Given the description of an element on the screen output the (x, y) to click on. 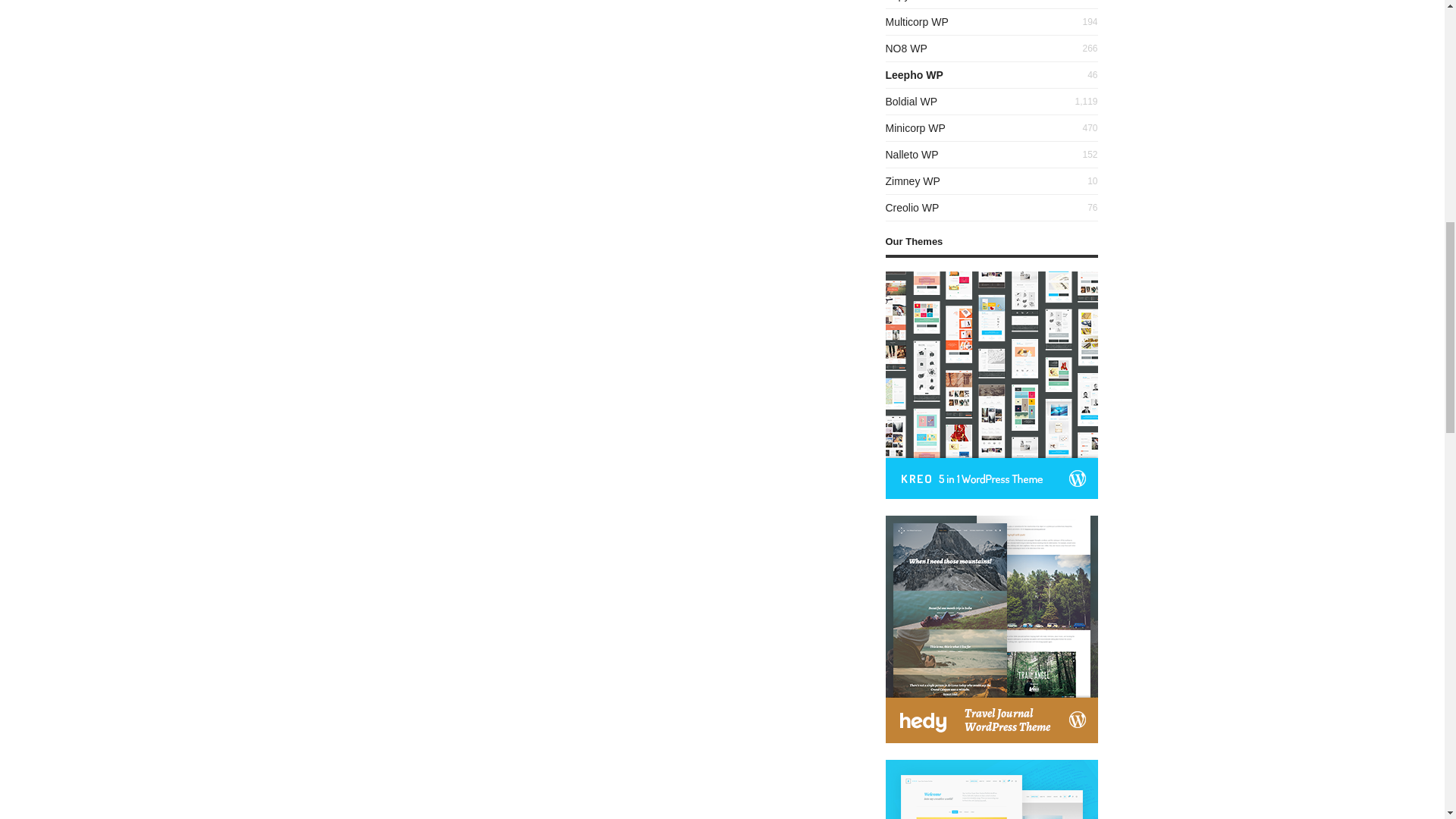
Multicorp WP (917, 21)
Leepho WP (914, 74)
Boldial WP (911, 101)
Zimney WP (912, 181)
Kopy WP (907, 0)
Minicorp WP (914, 128)
Nalleto WP (912, 154)
Creolio WP (912, 207)
NO8 WP (906, 48)
